Given the description of an element on the screen output the (x, y) to click on. 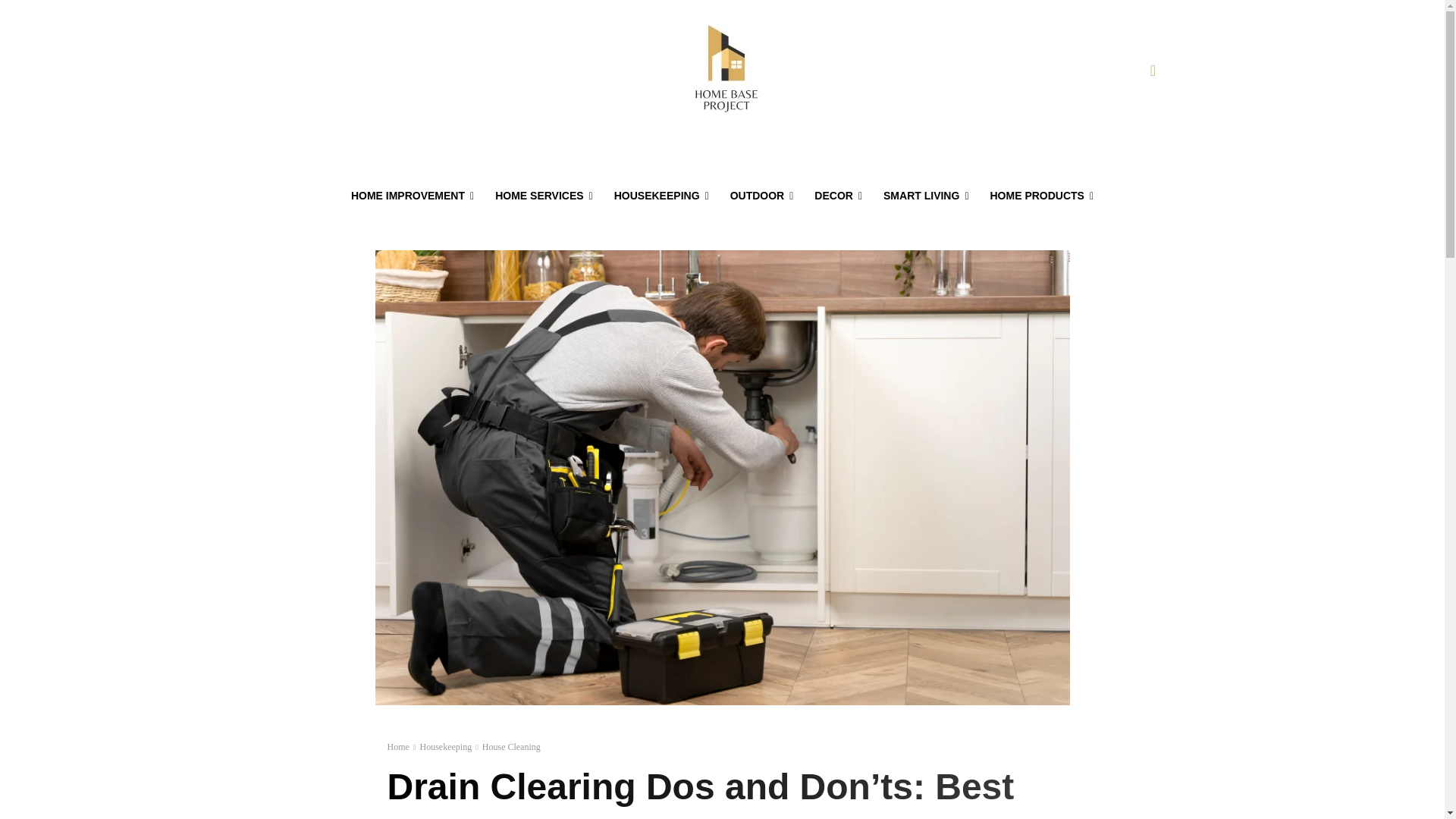
Home Base Project (725, 70)
View all posts in Housekeeping (445, 747)
View all posts in House Cleaning (510, 747)
Home Base Project (725, 70)
